Given the description of an element on the screen output the (x, y) to click on. 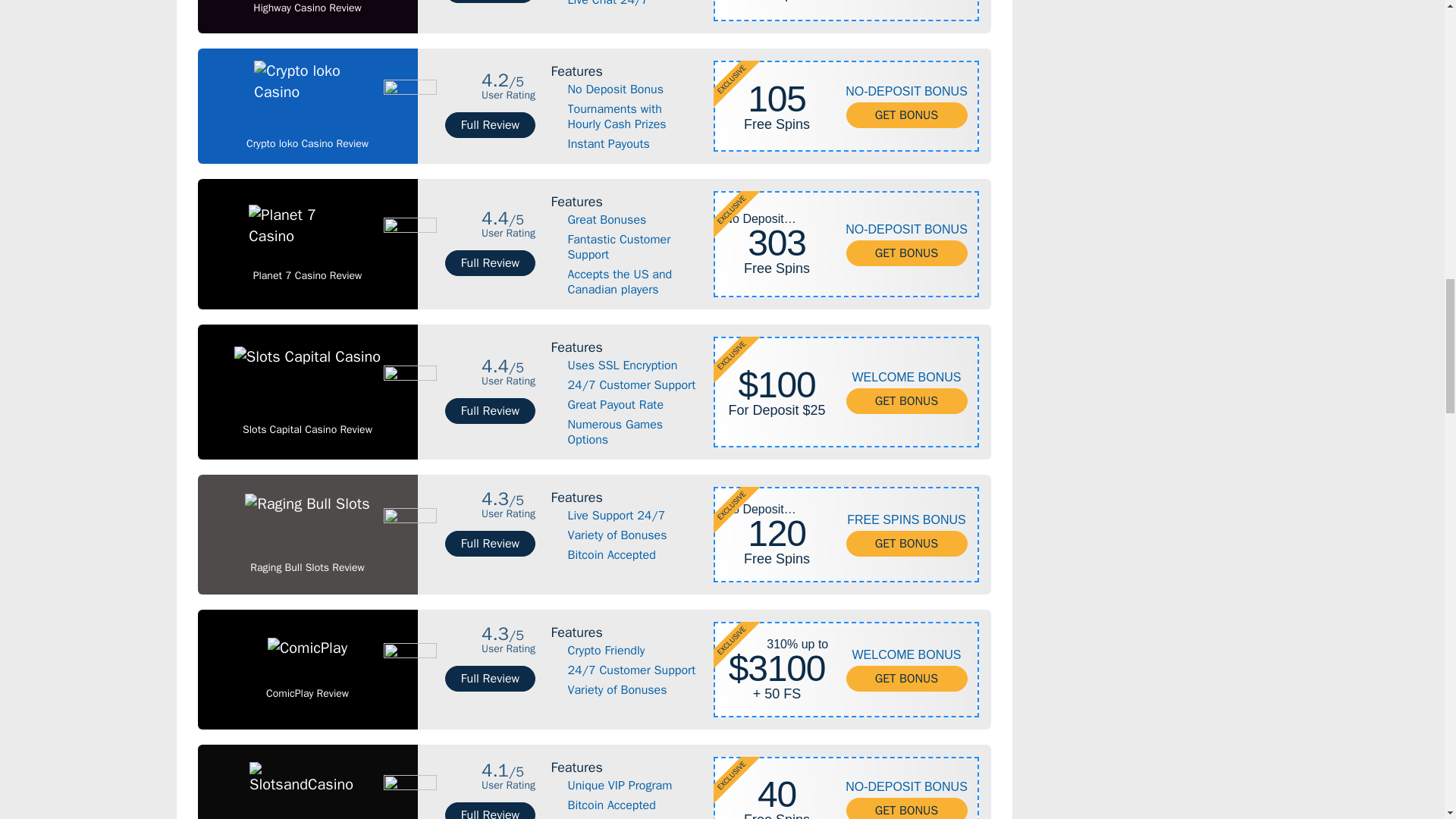
Raging Bull Slots (307, 567)
Planet 7 Casino (307, 275)
Slots Capital Casino (307, 429)
Crypto loko Casino (307, 143)
105 Free Spins (776, 99)
Highway Casino (307, 7)
303 Free Spins (776, 243)
120 Free Spins (776, 533)
